Given the description of an element on the screen output the (x, y) to click on. 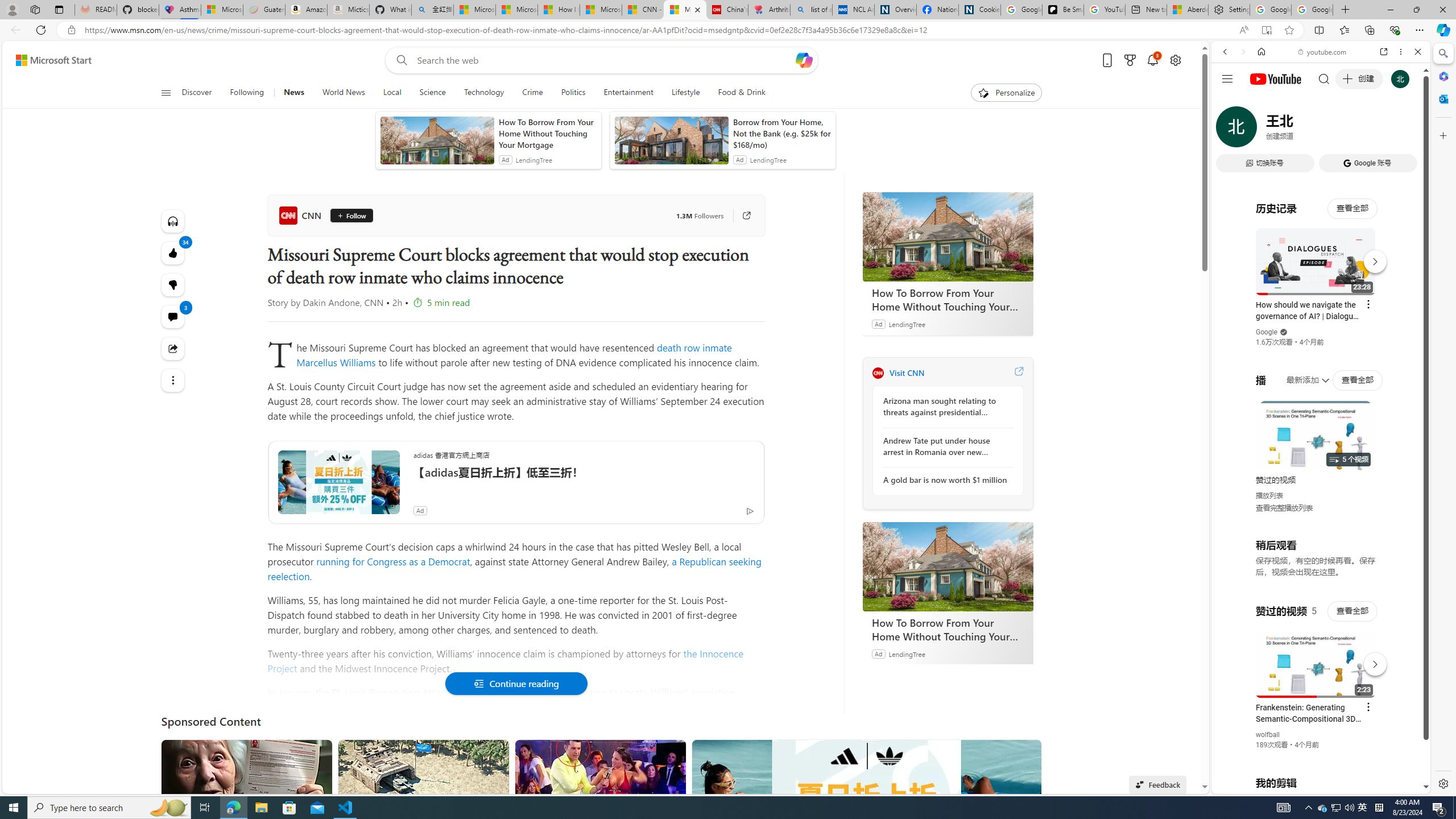
34 (172, 284)
To get missing image descriptions, open the context menu. (983, 92)
Global web icon (1232, 655)
More options (1401, 51)
Web search (398, 60)
Following (246, 92)
Science (432, 92)
CNN (302, 215)
Aberdeen, Hong Kong SAR hourly forecast | Microsoft Weather (1186, 9)
Open navigation menu (164, 92)
